Given the description of an element on the screen output the (x, y) to click on. 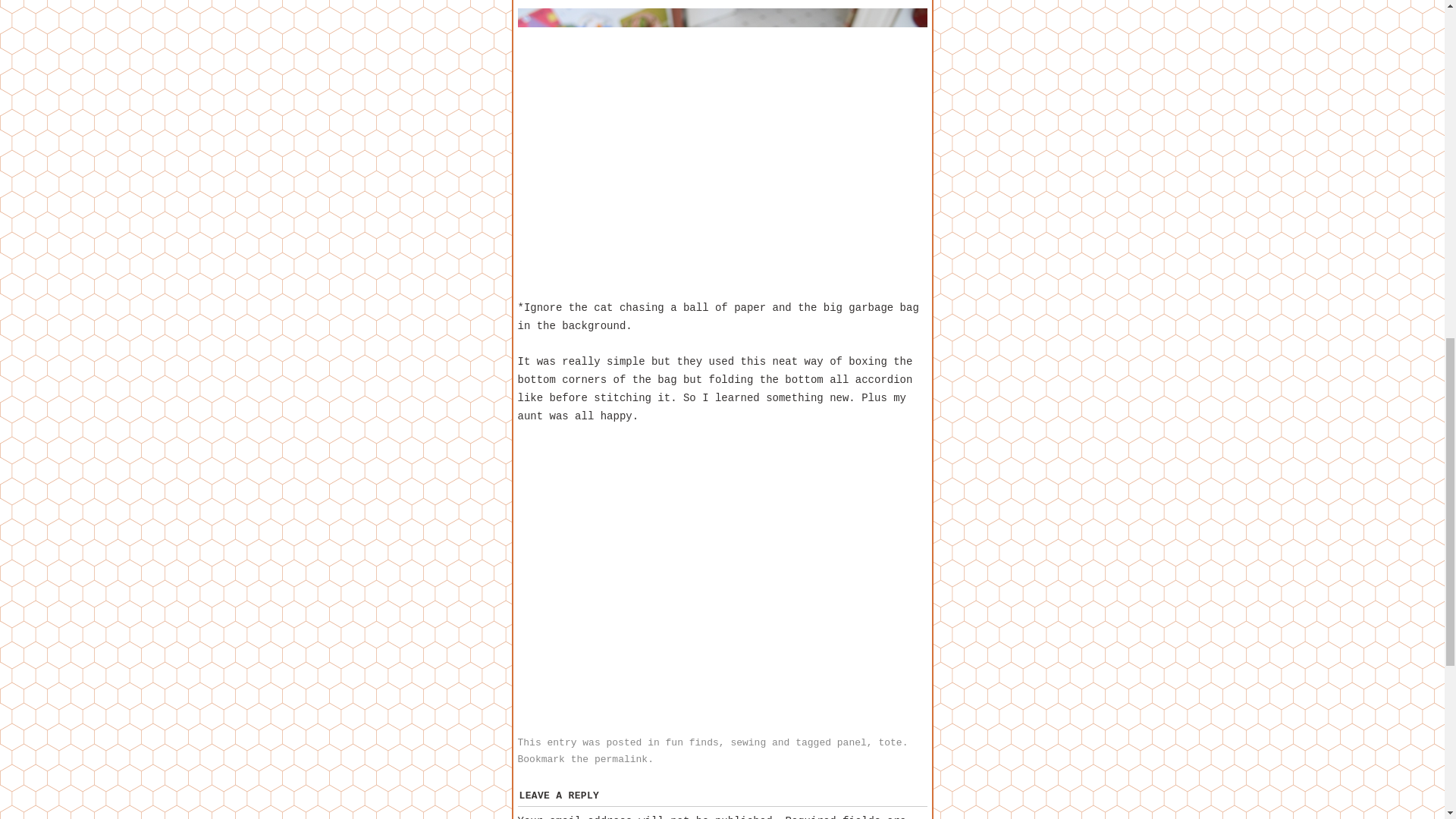
Permalink to Why I sew all sorts of things. (620, 758)
permalink (620, 758)
sewing (747, 742)
fun finds (692, 742)
tote (889, 742)
panel (851, 742)
